Given the description of an element on the screen output the (x, y) to click on. 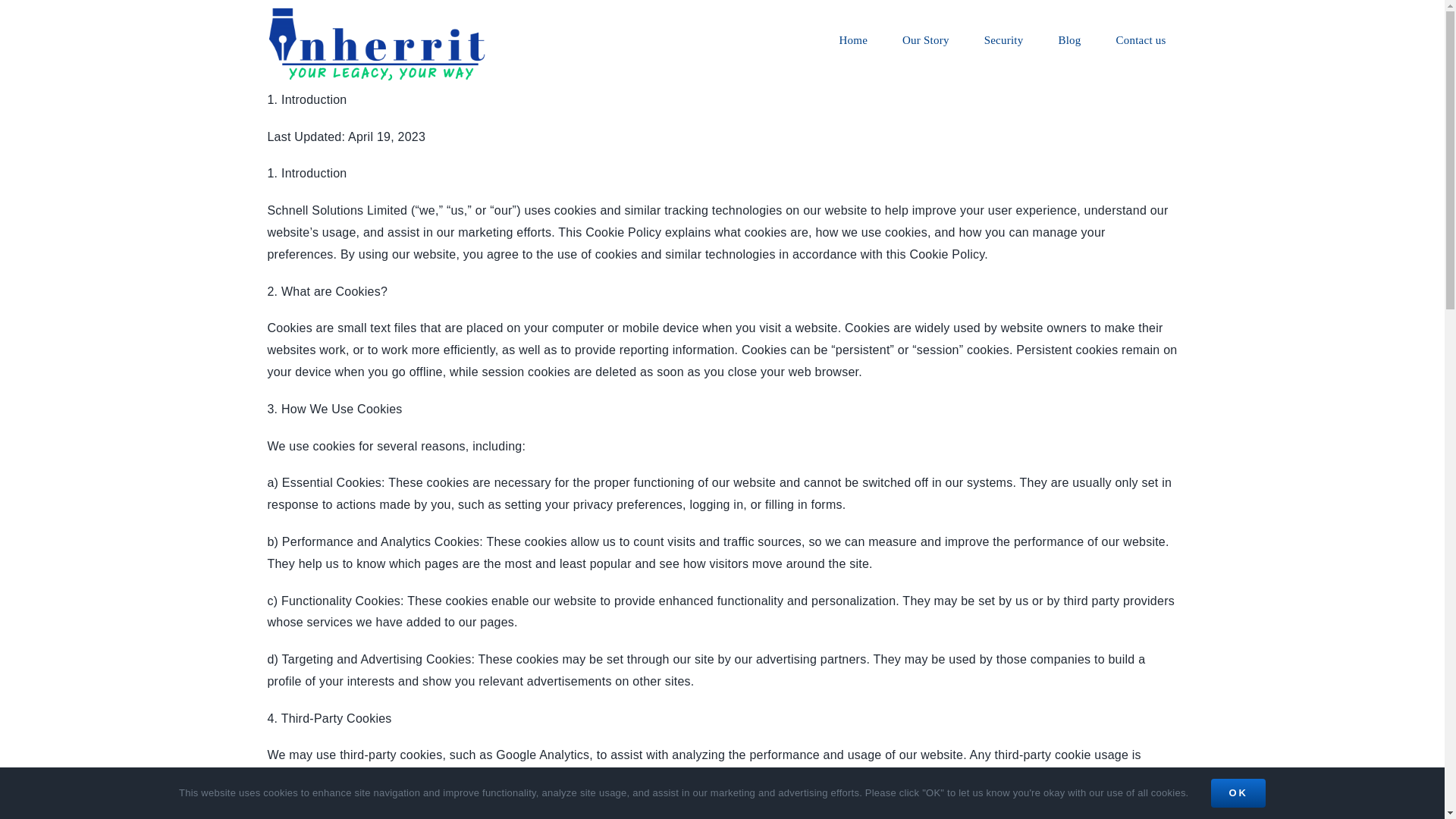
Our Story (925, 40)
Home (853, 40)
Security (1003, 40)
OK (1238, 792)
Blog (1069, 40)
Contact us (1141, 40)
